Given the description of an element on the screen output the (x, y) to click on. 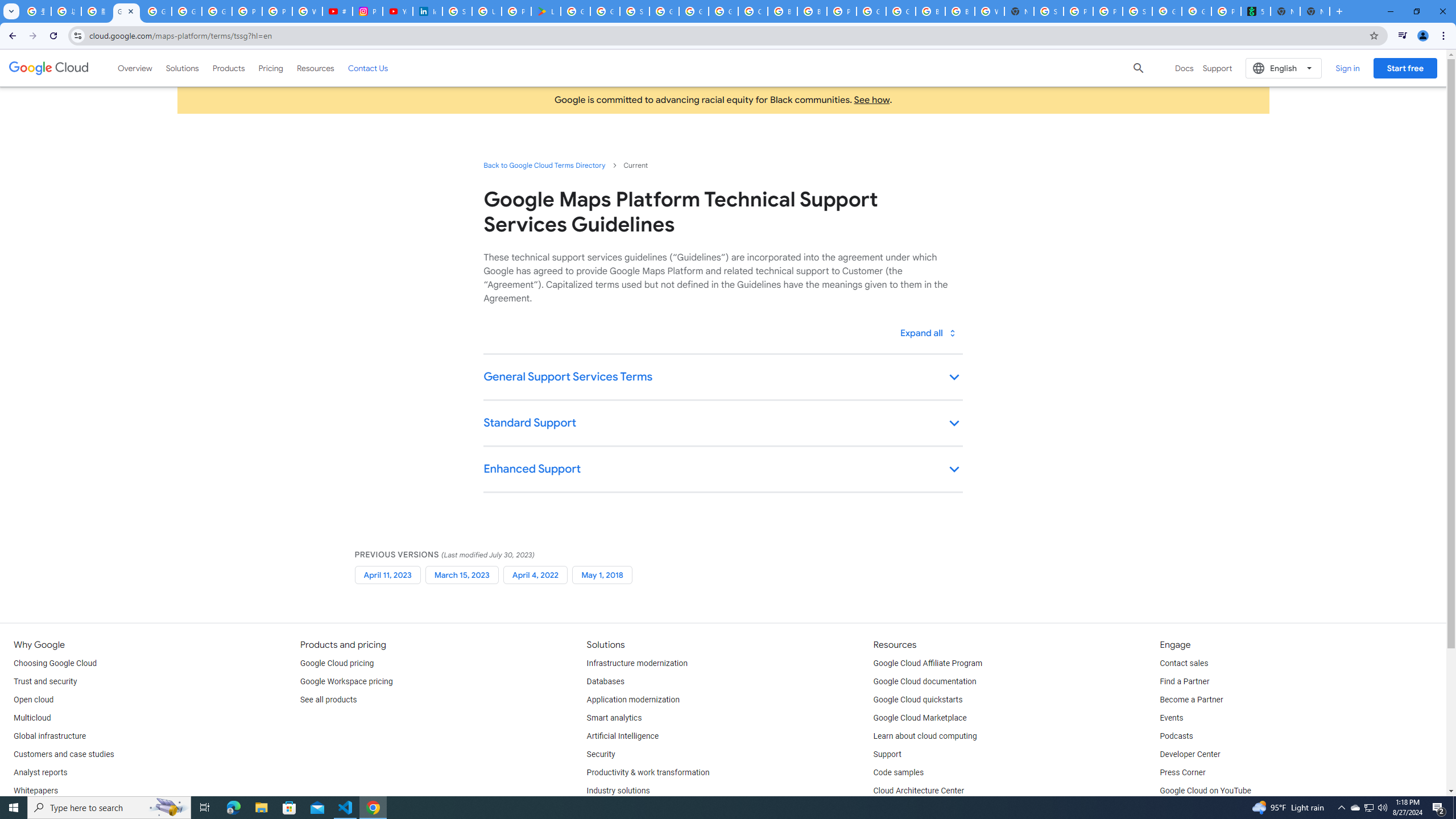
Google Cloud documentation (924, 682)
Google Cloud Marketplace (919, 718)
Infrastructure modernization (637, 663)
Whitepapers (35, 791)
Press Corner (1181, 773)
Solutions (181, 67)
Cloud Architecture Center (918, 791)
Last Shelter: Survival - Apps on Google Play (545, 11)
Developer Center (1189, 754)
Enhanced Support keyboard_arrow_down (722, 470)
